Given the description of an element on the screen output the (x, y) to click on. 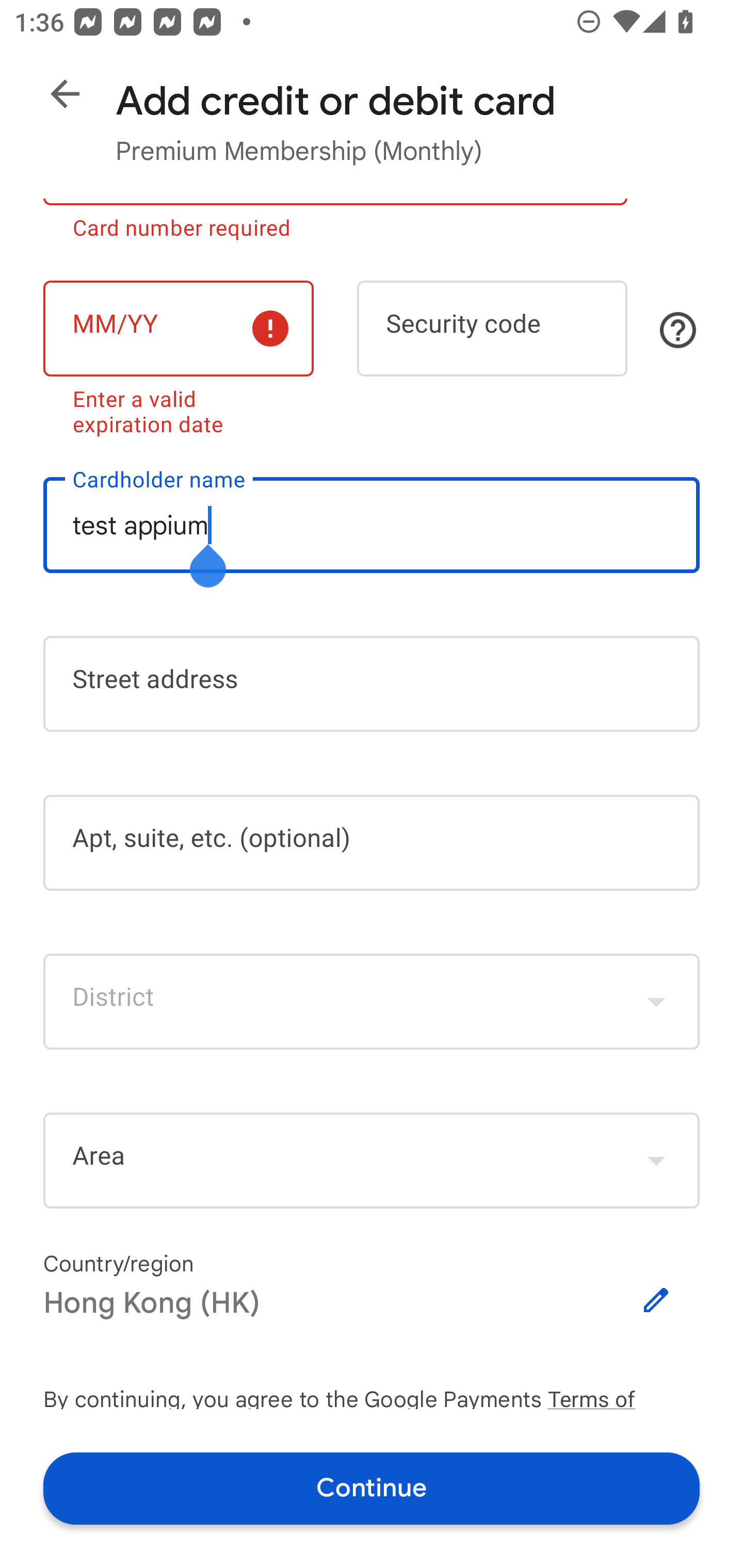
Back (64, 93)
Expiration date, 2 digit month, 2 digit year (178, 328)
Security code (492, 328)
Security code help (677, 329)
test appium (371, 524)
Street address (371, 684)
Apt, suite, etc. (optional) (371, 842)
District (371, 1000)
Show dropdown menu (655, 1001)
Area (371, 1160)
Show dropdown menu (655, 1160)
country edit button (655, 1300)
Terms of Service (623, 1395)
Continue (371, 1487)
